Given the description of an element on the screen output the (x, y) to click on. 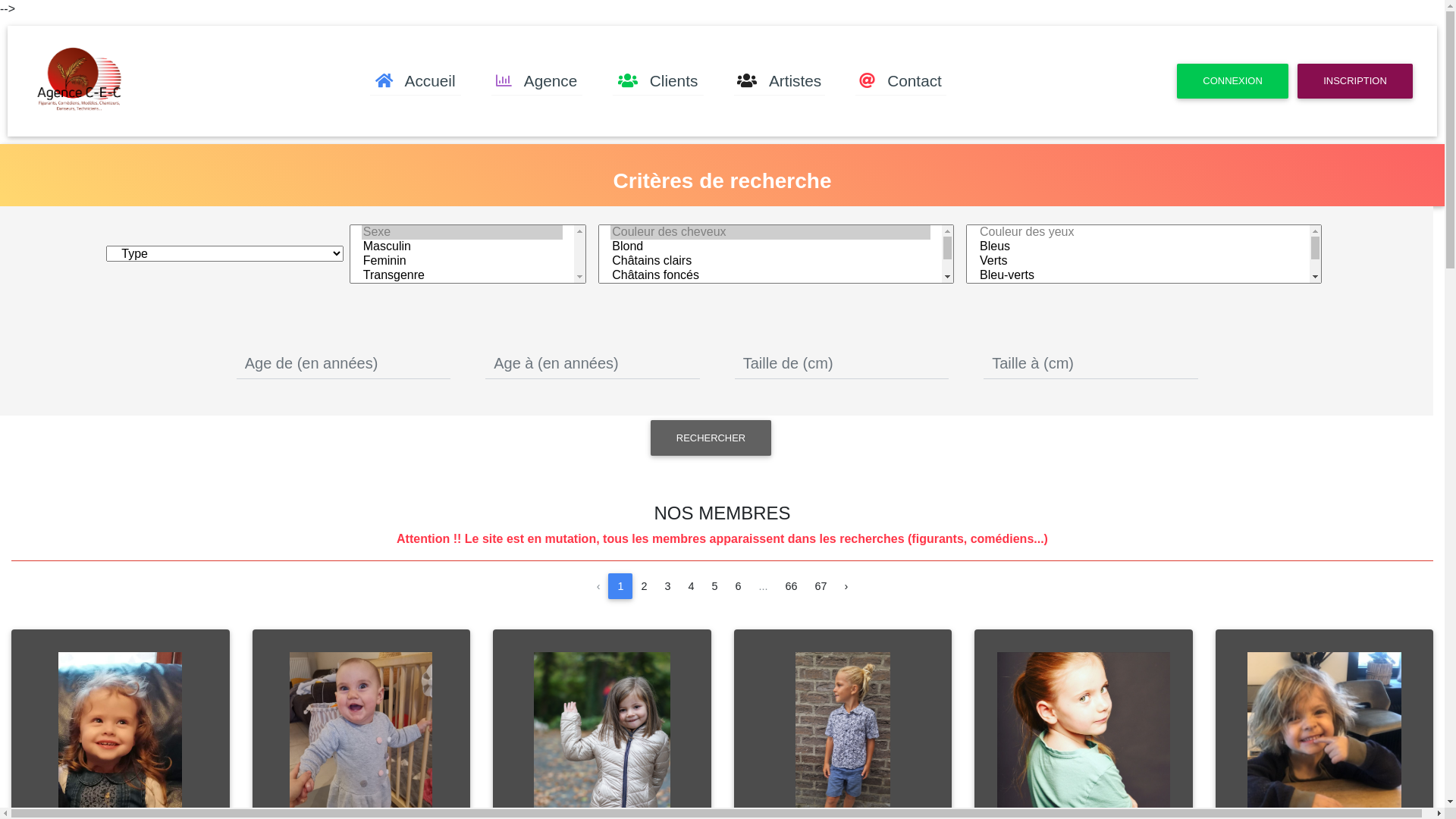
Accueil Element type: text (415, 80)
6 Element type: text (738, 586)
Clients Element type: text (657, 80)
Contact Element type: text (900, 80)
Agence Element type: text (536, 80)
66 Element type: text (791, 586)
3 Element type: text (667, 586)
2 Element type: text (643, 586)
5 Element type: text (714, 586)
INSCRIPTION Element type: text (1354, 80)
CONNEXION Element type: text (1232, 80)
4 Element type: text (690, 586)
Artistes Element type: text (779, 80)
RECHERCHER Element type: text (710, 437)
67 Element type: text (821, 586)
